Given the description of an element on the screen output the (x, y) to click on. 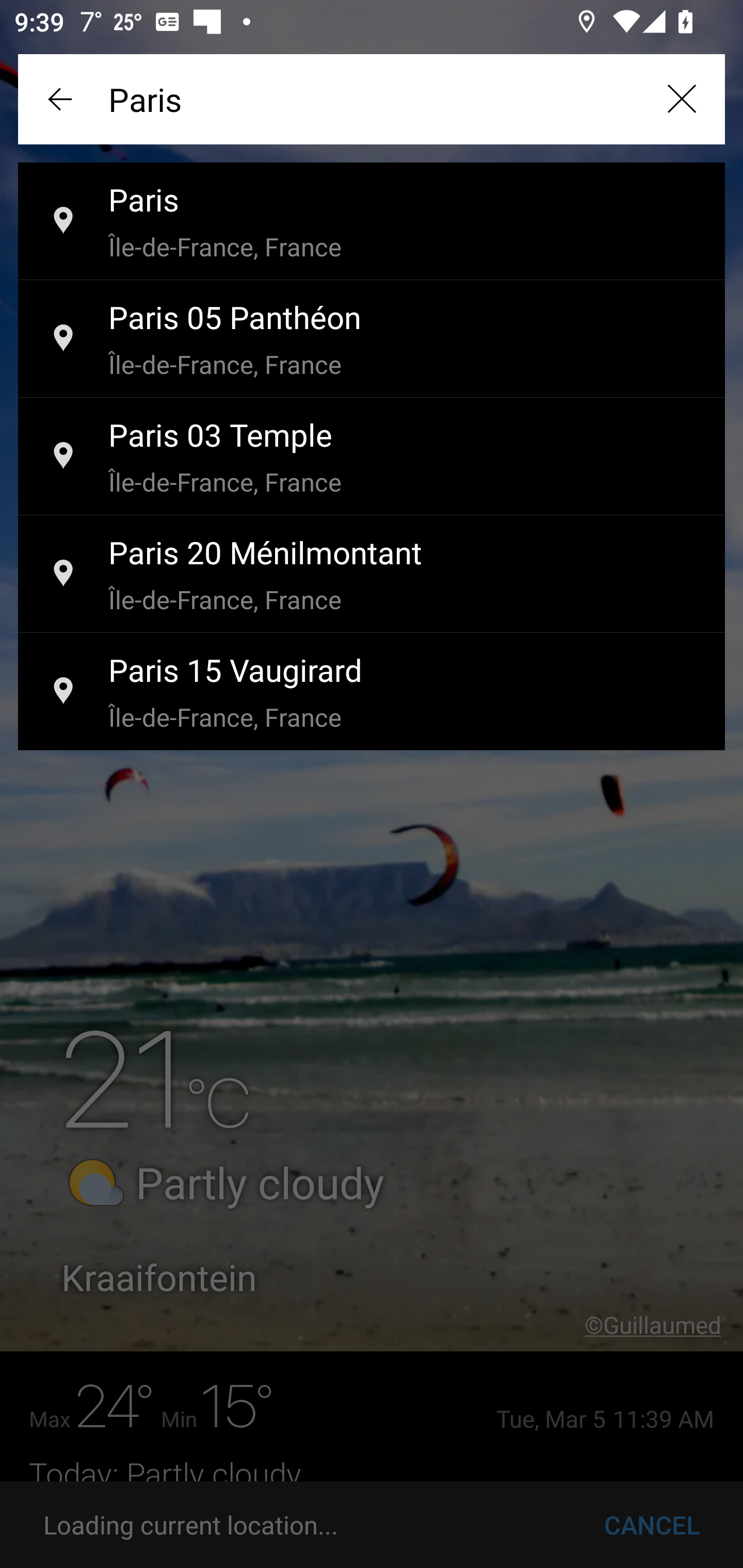
Paris (371, 99)
 (681, 99)
 (61, 99)
 Paris Île-de-France, France (371, 221)
 Paris 05 Panthéon Île-de-France, France (371, 339)
 Paris 03 Temple Île-de-France, France (371, 456)
 Paris 20 Ménilmontant Île-de-France, France (371, 574)
 Paris 15 Vaugirard Île-de-France, France (371, 692)
